Given the description of an element on the screen output the (x, y) to click on. 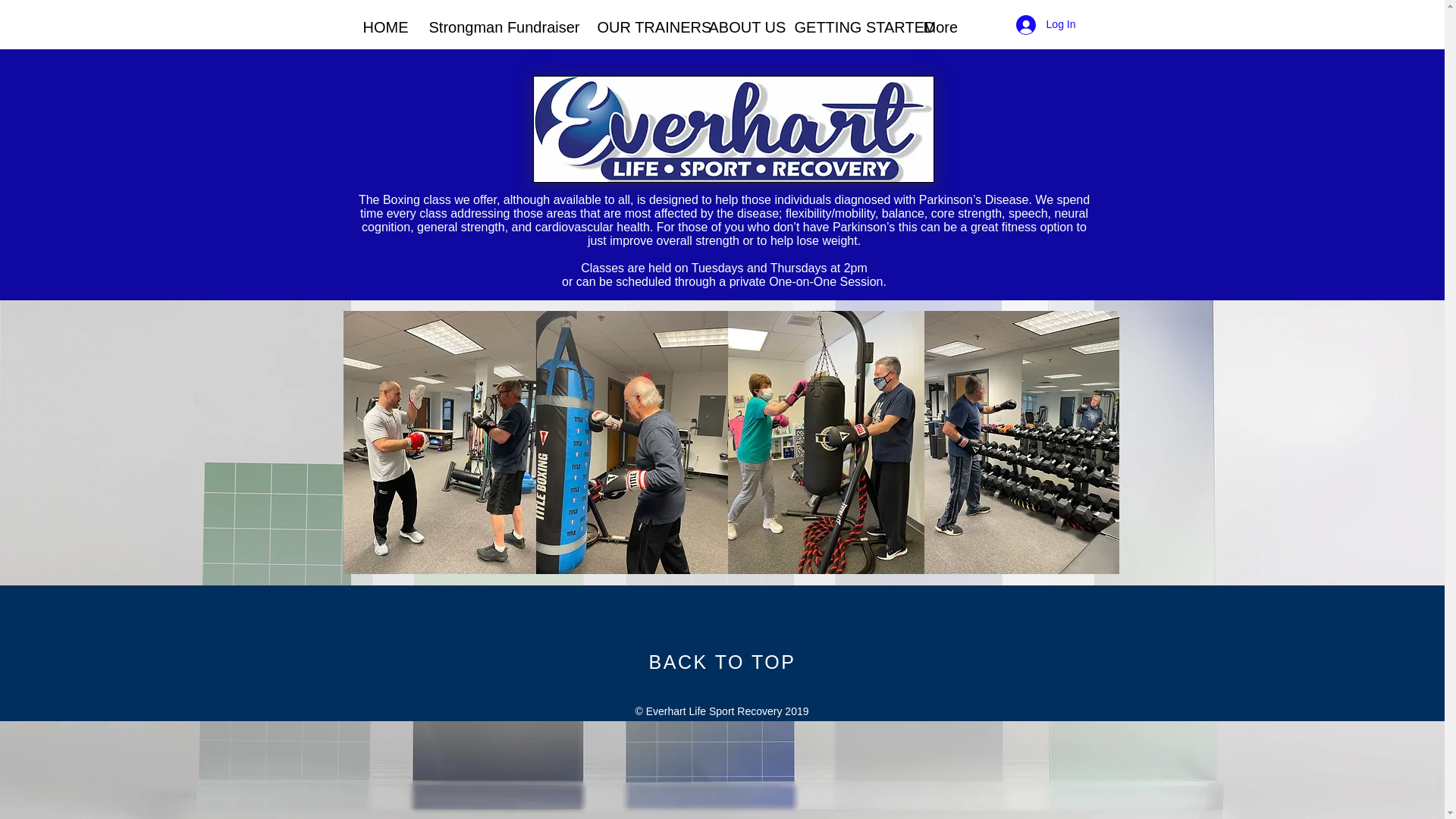
GETTING STARTED (847, 26)
HOME (384, 26)
Strongman Fundraiser (500, 26)
BACK TO TOP (722, 661)
ELSR LOGO.jpg (732, 129)
ABOUT US (740, 26)
OUR TRAINERS (641, 26)
Log In (1046, 24)
